Given the description of an element on the screen output the (x, y) to click on. 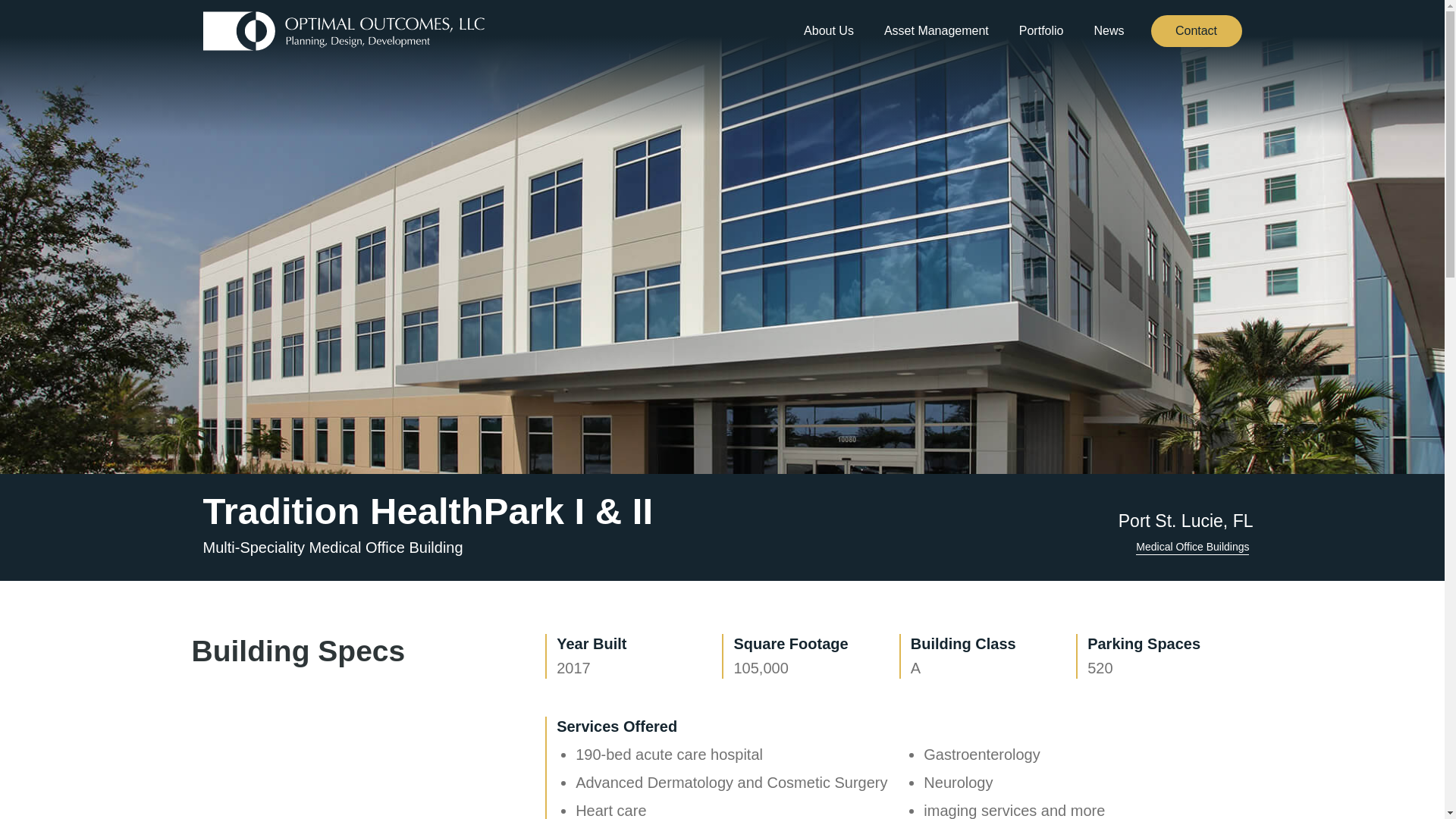
Portfolio (1041, 30)
News (1108, 30)
Asset Management (935, 30)
About Us (828, 30)
Medical Office Buildings (1192, 546)
Optimal Outcomes (343, 30)
Contact (1196, 30)
